Given the description of an element on the screen output the (x, y) to click on. 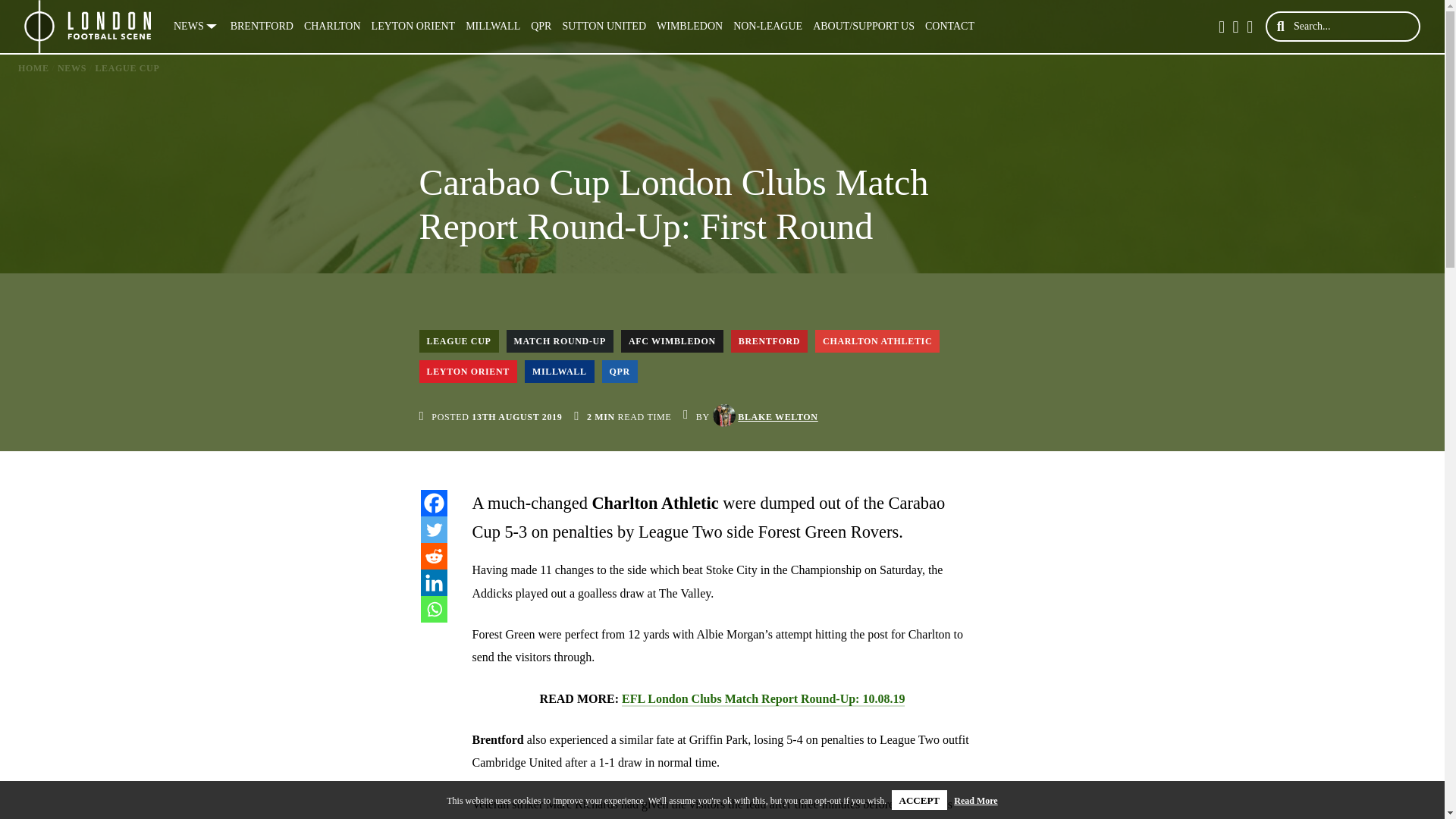
NEWS (71, 68)
LEAGUE CUP (458, 341)
NEWS (196, 26)
MATCH ROUND-UP (559, 341)
BRENTFORD (261, 26)
NON-LEAGUE (768, 26)
EFL London Clubs Match Report Round-Up: 10.08.19 (762, 699)
WIMBLEDON (689, 26)
LONDON FOOTBALL SCENE (88, 26)
SUTTON UNITED (603, 26)
